Given the description of an element on the screen output the (x, y) to click on. 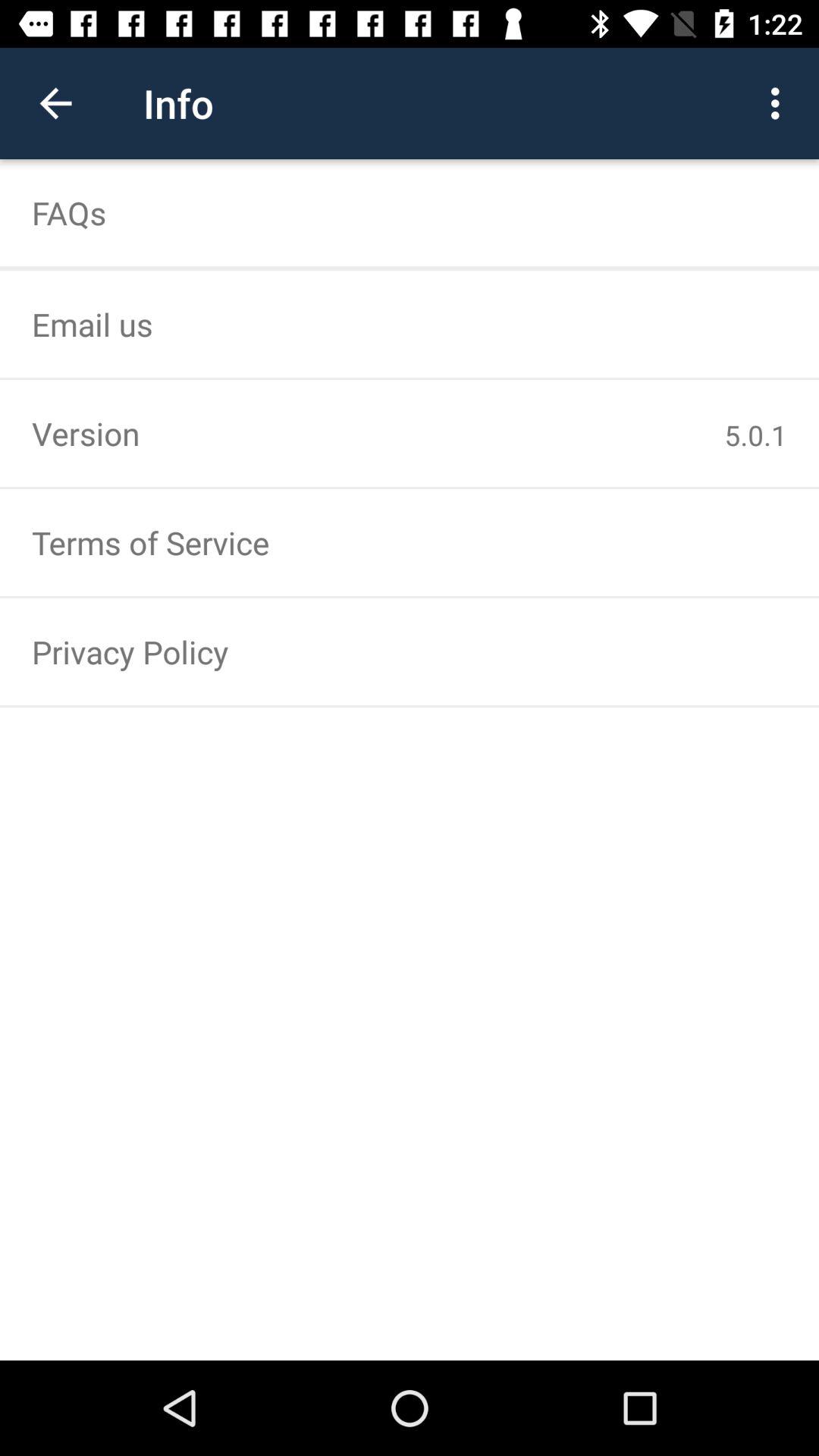
choose the item above the faqs (779, 103)
